Given the description of an element on the screen output the (x, y) to click on. 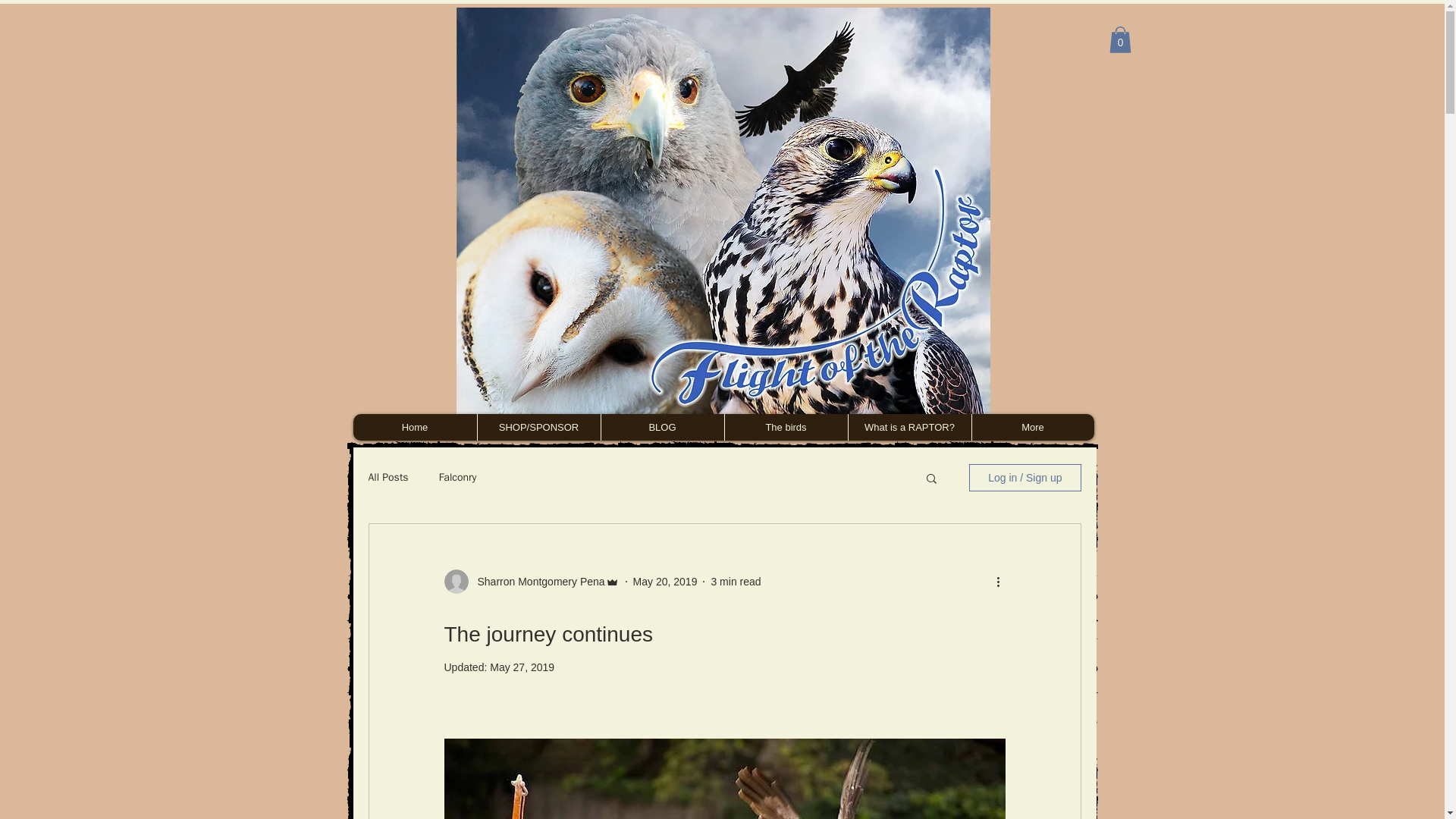
3 min read (735, 580)
May 27, 2019 (521, 666)
The birds (785, 427)
BLOG (661, 427)
What is a RAPTOR? (909, 427)
Home (415, 427)
Falconry (458, 477)
All Posts (388, 477)
May 20, 2019 (665, 580)
Sharron Montgomery Pena (536, 580)
